Given the description of an element on the screen output the (x, y) to click on. 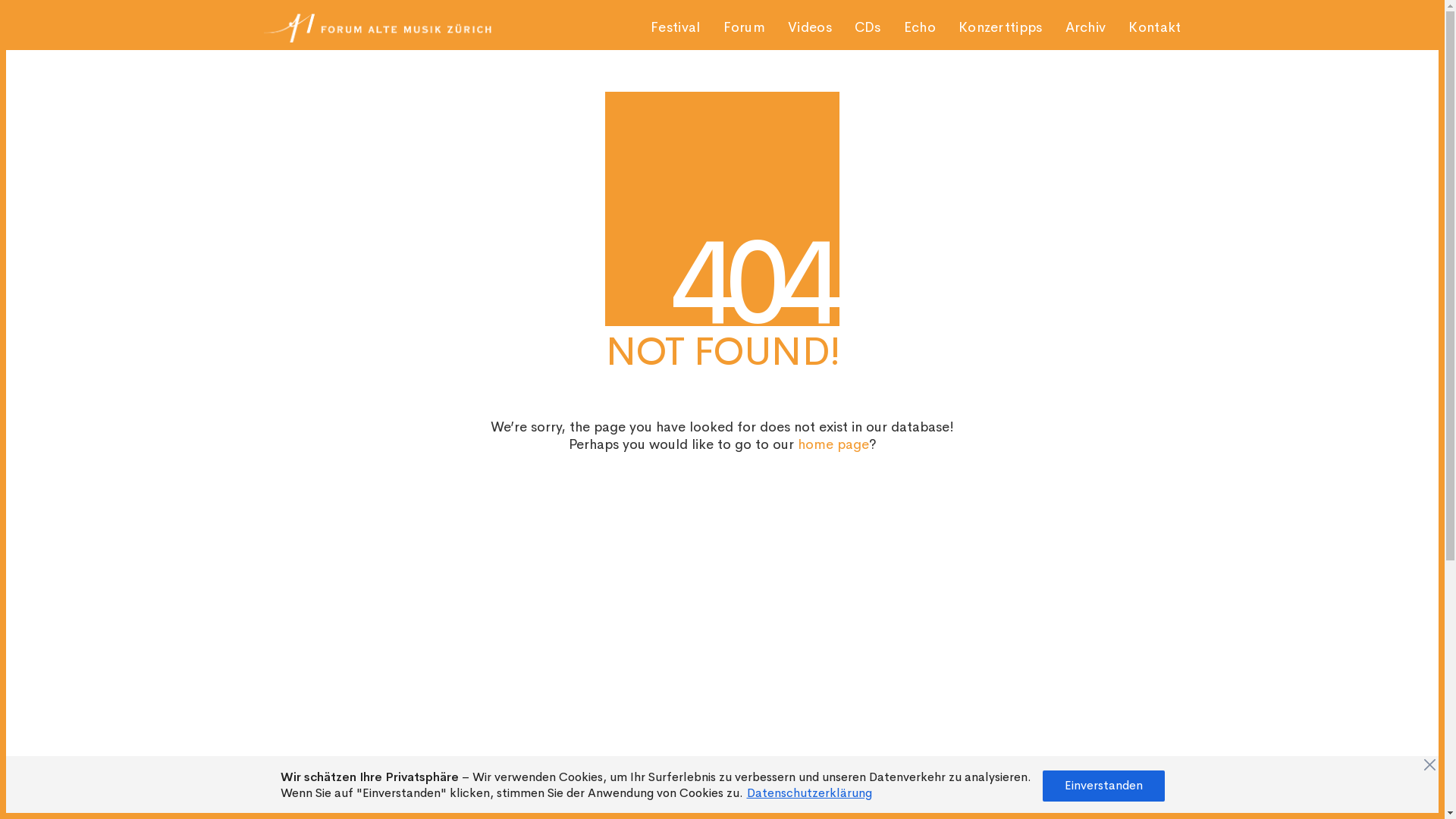
home page Element type: text (833, 444)
Kontakt Element type: text (1154, 27)
Konzerttipps Element type: text (1000, 27)
Einverstanden Element type: text (1102, 785)
Impressum Element type: text (483, 770)
Archiv Element type: text (1085, 27)
Festival Element type: text (674, 27)
Kontakt Element type: text (286, 651)
Forum Element type: text (744, 27)
Videos Element type: text (809, 27)
Home Element type: text (280, 522)
CDs Element type: text (867, 27)
Konzerttipps Element type: text (299, 619)
Echo Element type: text (277, 603)
Echo Element type: text (919, 27)
Archiv Element type: text (280, 635)
Videos Element type: text (281, 570)
YouTube Element type: hover (1128, 767)
CDs Element type: text (274, 586)
Forum Element type: text (280, 554)
Facebook Element type: hover (1166, 767)
Festival Element type: text (284, 538)
Jetzt abonnieren Element type: text (950, 581)
